Given the description of an element on the screen output the (x, y) to click on. 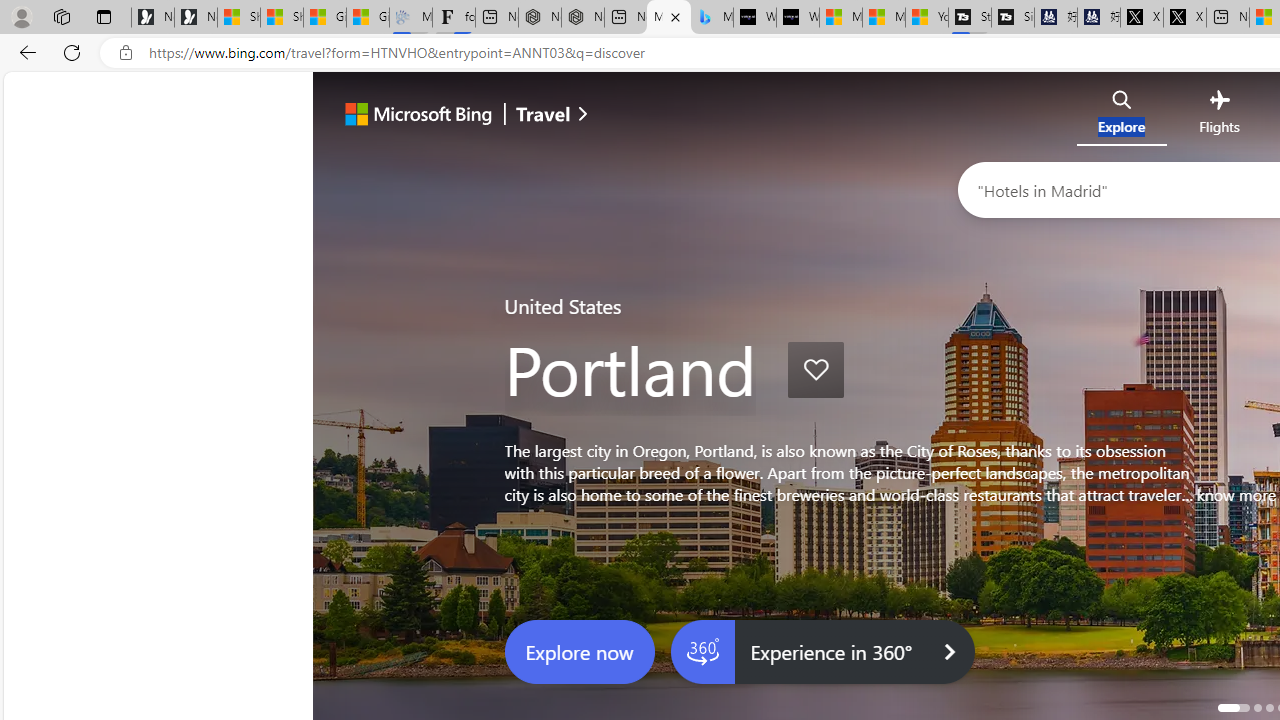
Personal Profile (21, 16)
Tab actions menu (104, 16)
View site information (125, 53)
New tab (1228, 17)
Workspaces (61, 16)
X (1184, 17)
Refresh (72, 52)
Explore now (579, 651)
Microsoft Bing (445, 116)
Microsoft Start (883, 17)
